Given the description of an element on the screen output the (x, y) to click on. 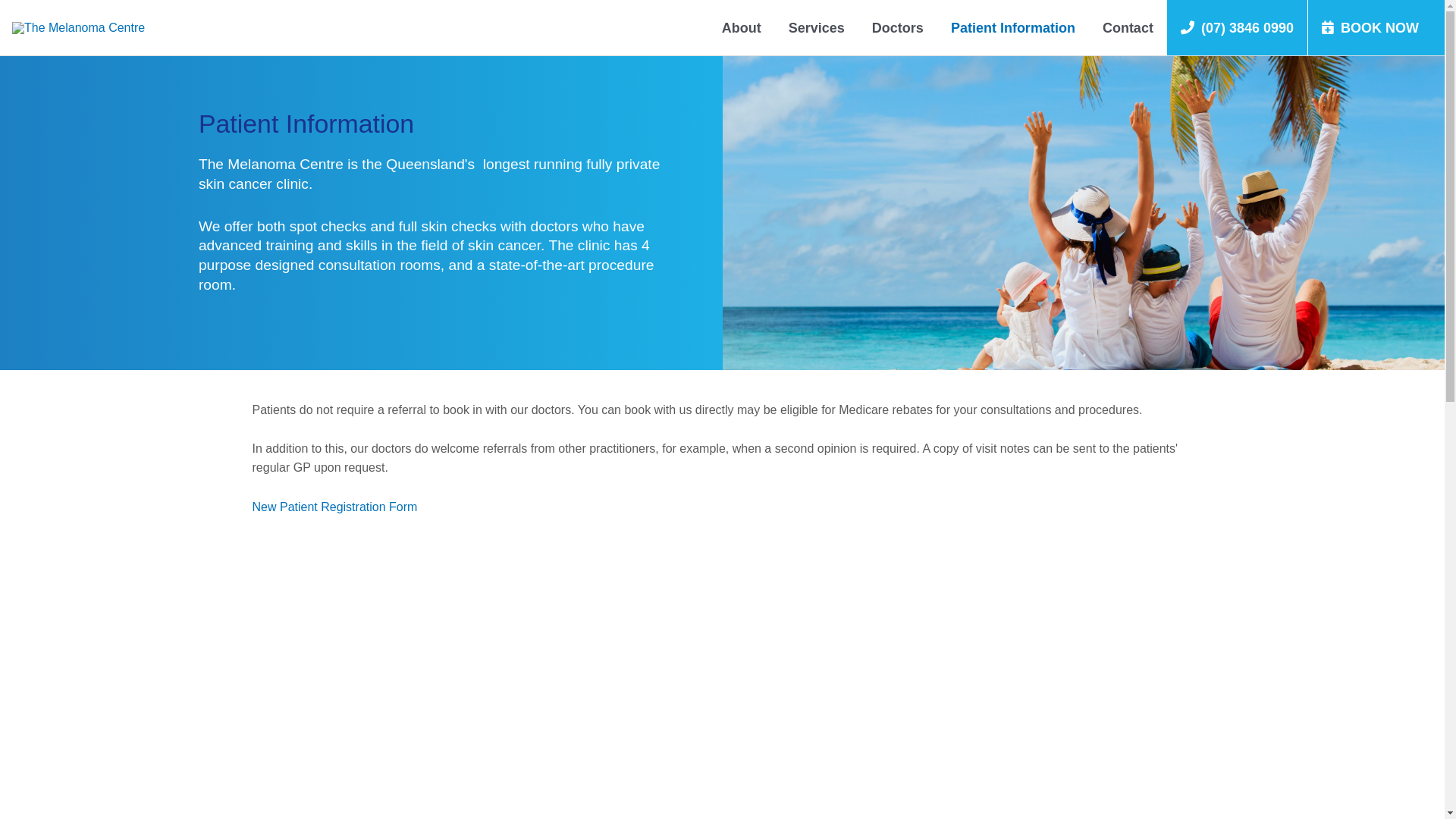
BOOK NOW Element type: text (1376, 27)
New Patient Registration Form Element type: text (334, 506)
Patient Information Element type: text (1012, 27)
Services Element type: text (816, 27)
(07) 3846 0990 Element type: text (1237, 27)
Contact Element type: text (1127, 27)
Doctors Element type: text (897, 27)
About Element type: text (741, 27)
